Given the description of an element on the screen output the (x, y) to click on. 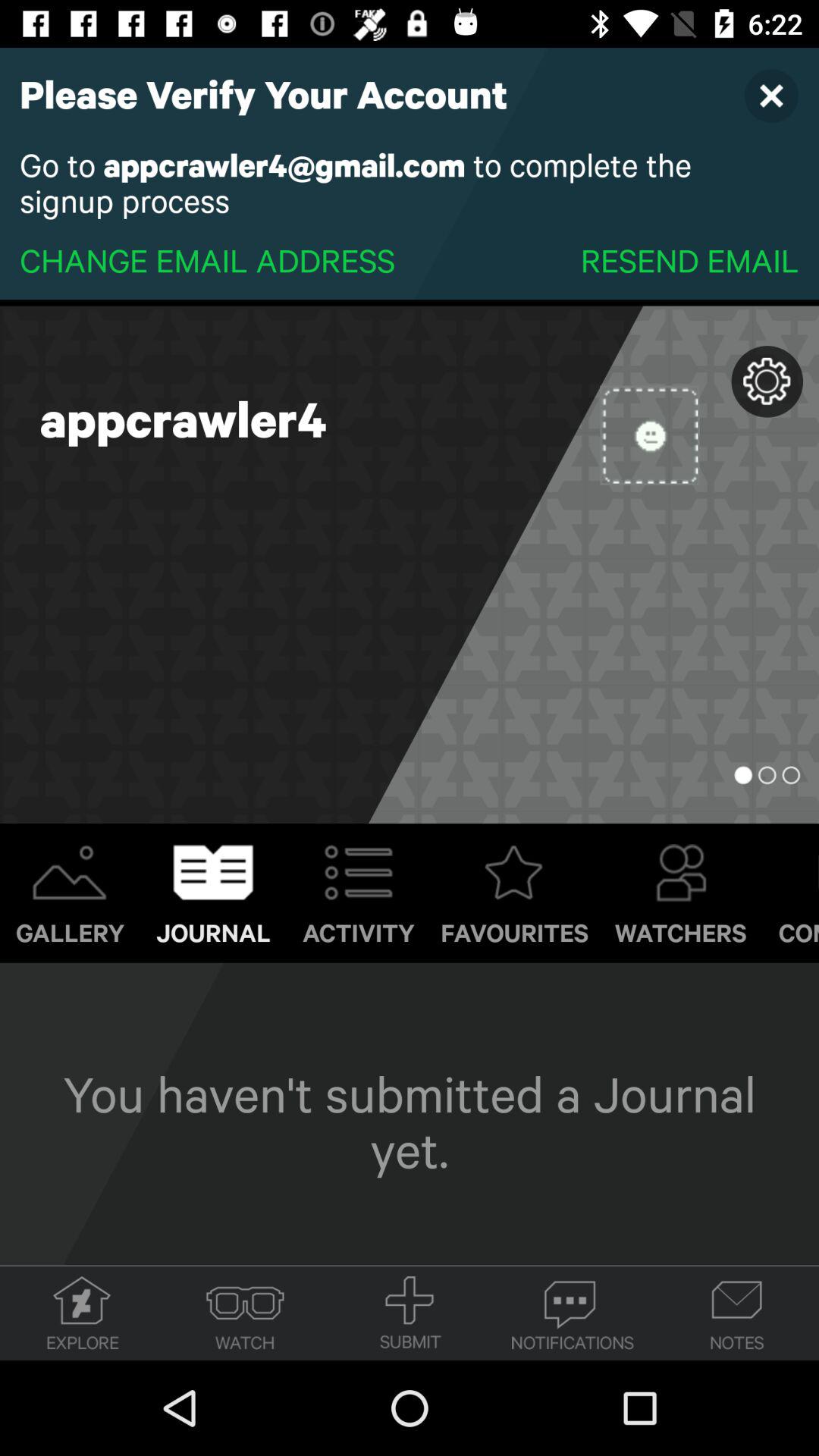
click the item next to the change email address item (689, 259)
